Given the description of an element on the screen output the (x, y) to click on. 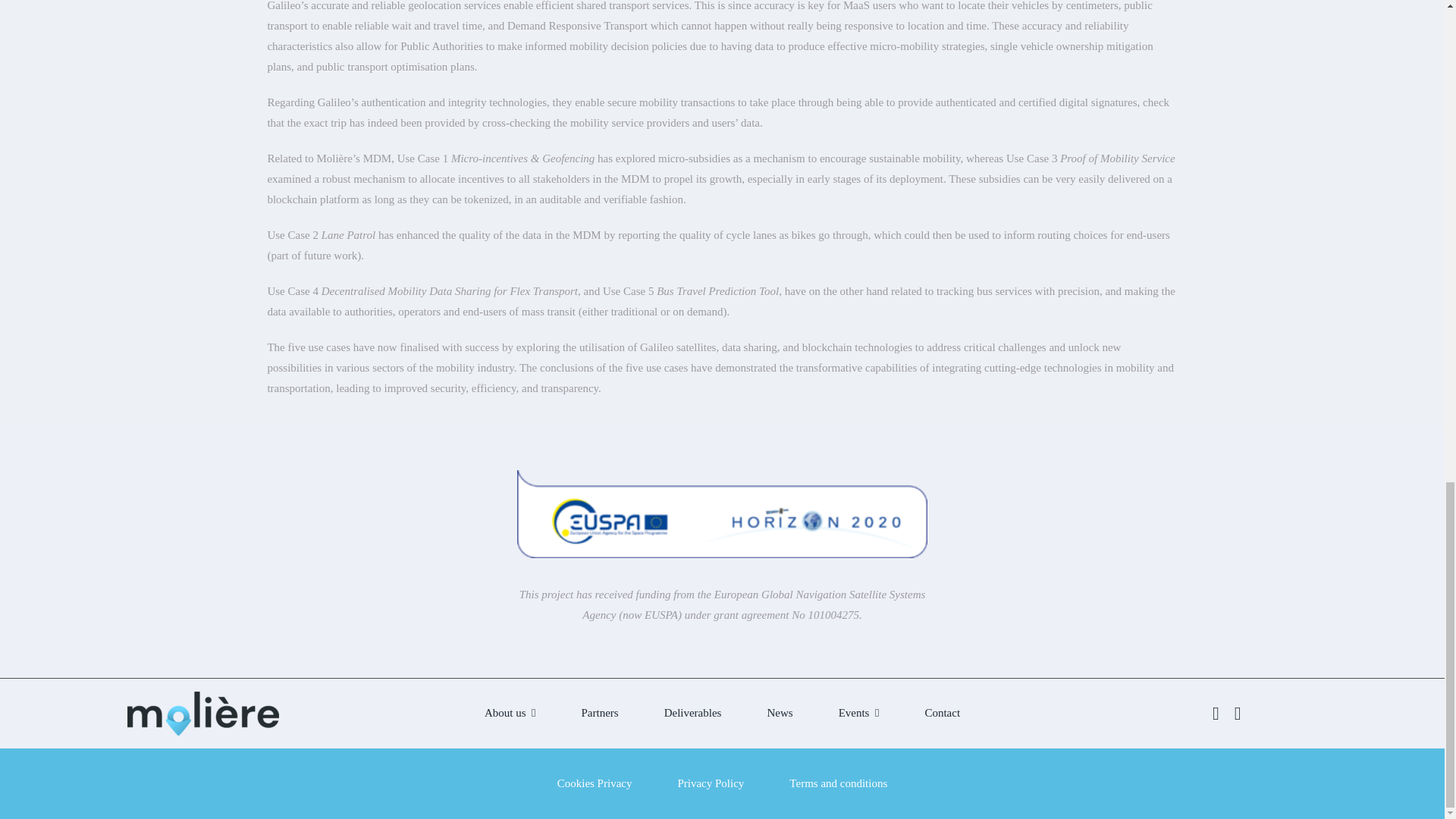
Deliverables (693, 713)
Logo (203, 713)
About us (510, 713)
News (779, 713)
Partners (598, 713)
